Given the description of an element on the screen output the (x, y) to click on. 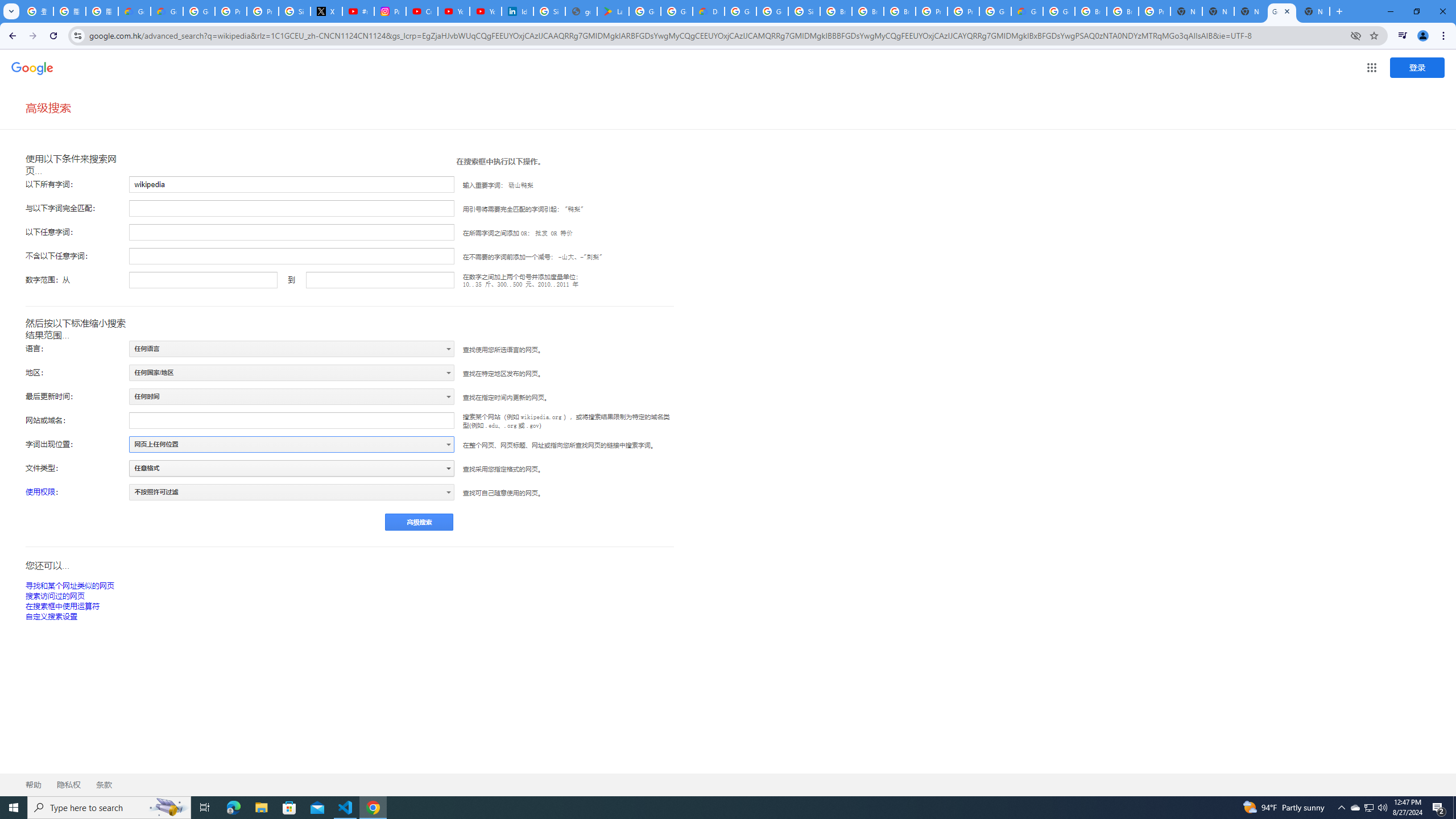
Sign in - Google Accounts (549, 11)
Browse Chrome as a guest - Computer - Google Chrome Help (868, 11)
Google Cloud Estimate Summary (1027, 11)
YouTube Culture & Trends - YouTube Top 10, 2021 (485, 11)
